Given the description of an element on the screen output the (x, y) to click on. 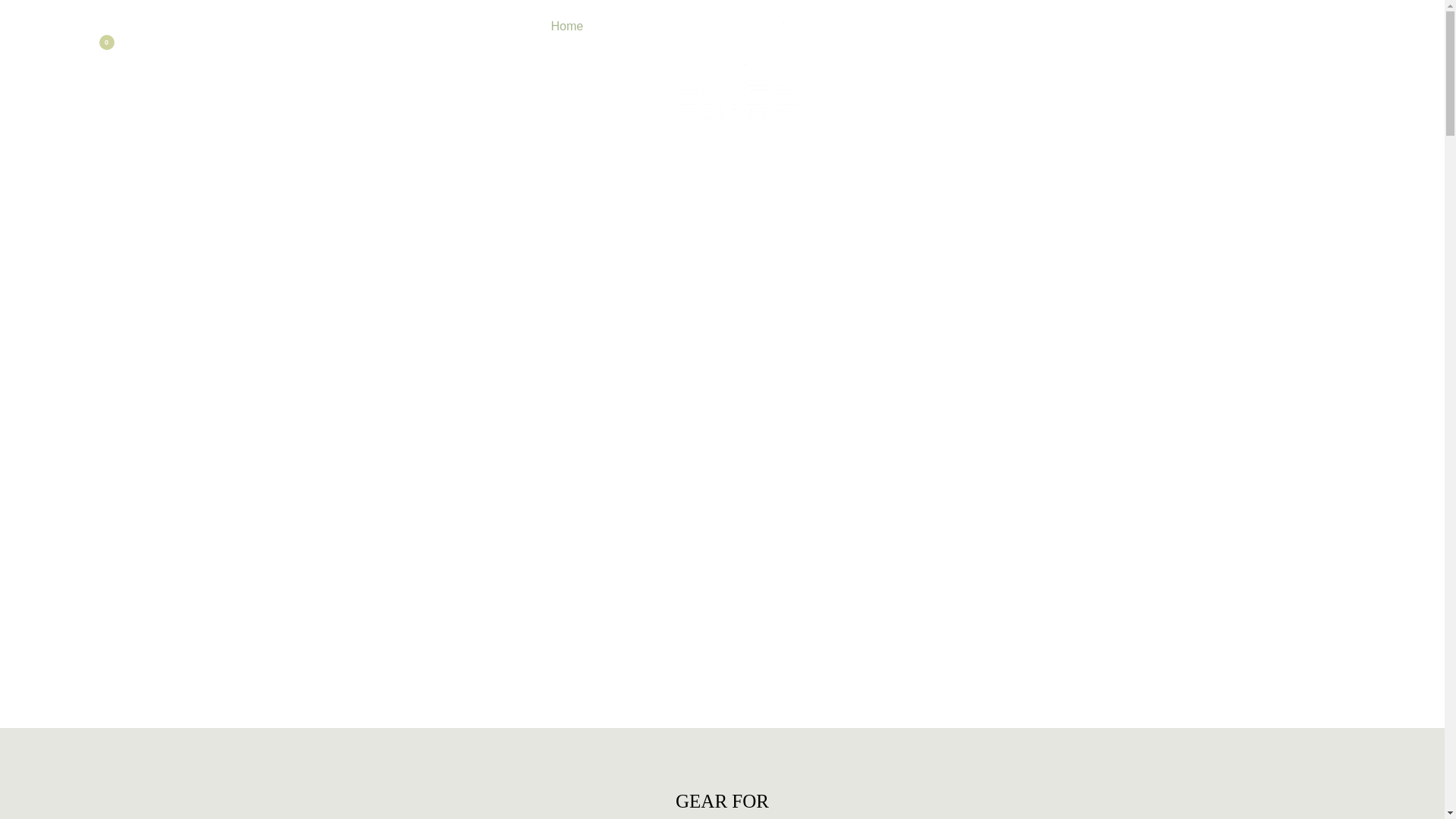
View your shopping cart (115, 45)
Home (566, 26)
About (854, 26)
Contact (913, 26)
Hunting and Trapping Supplies (736, 65)
